Given the description of an element on the screen output the (x, y) to click on. 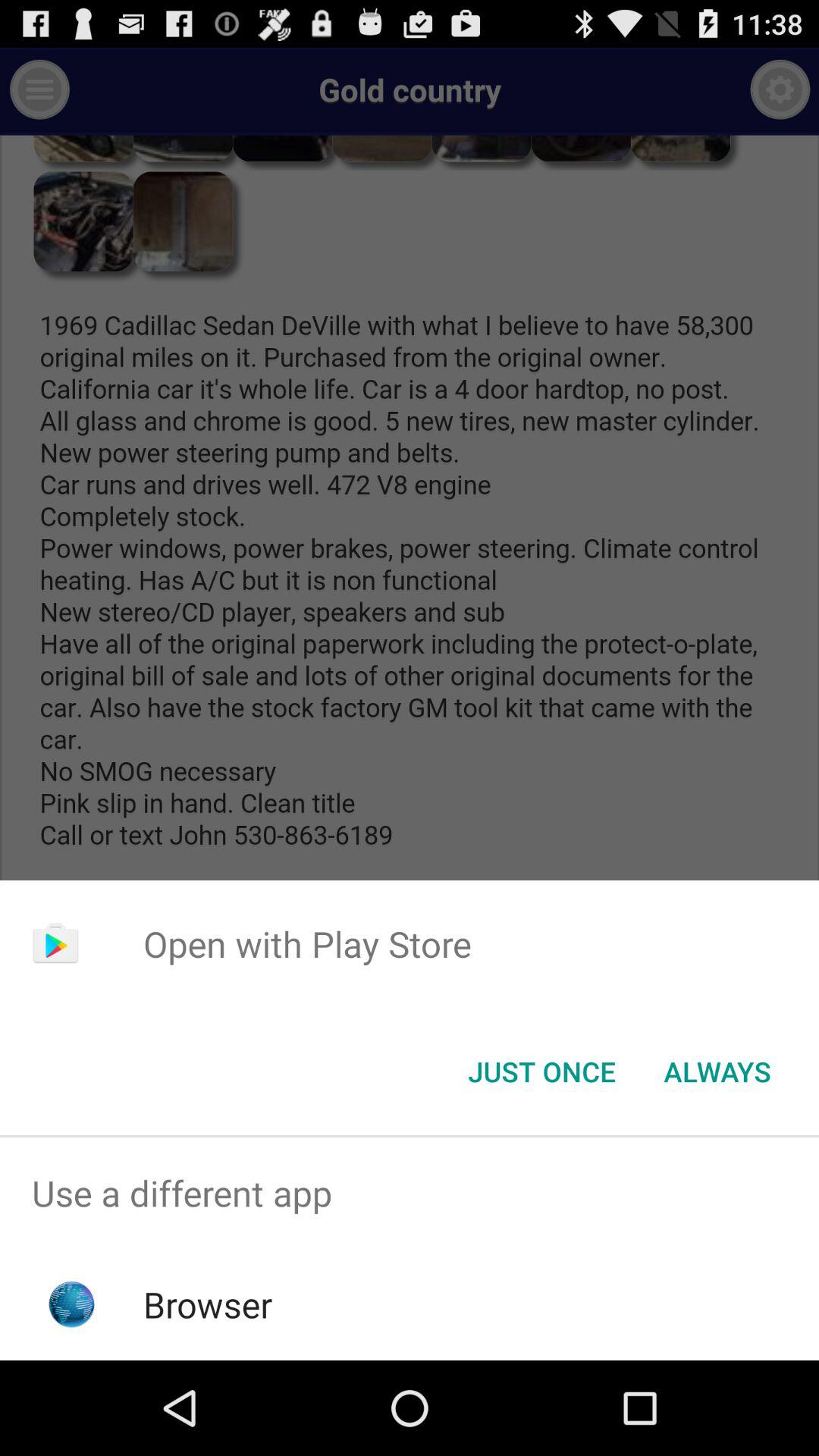
swipe until always item (717, 1071)
